Given the description of an element on the screen output the (x, y) to click on. 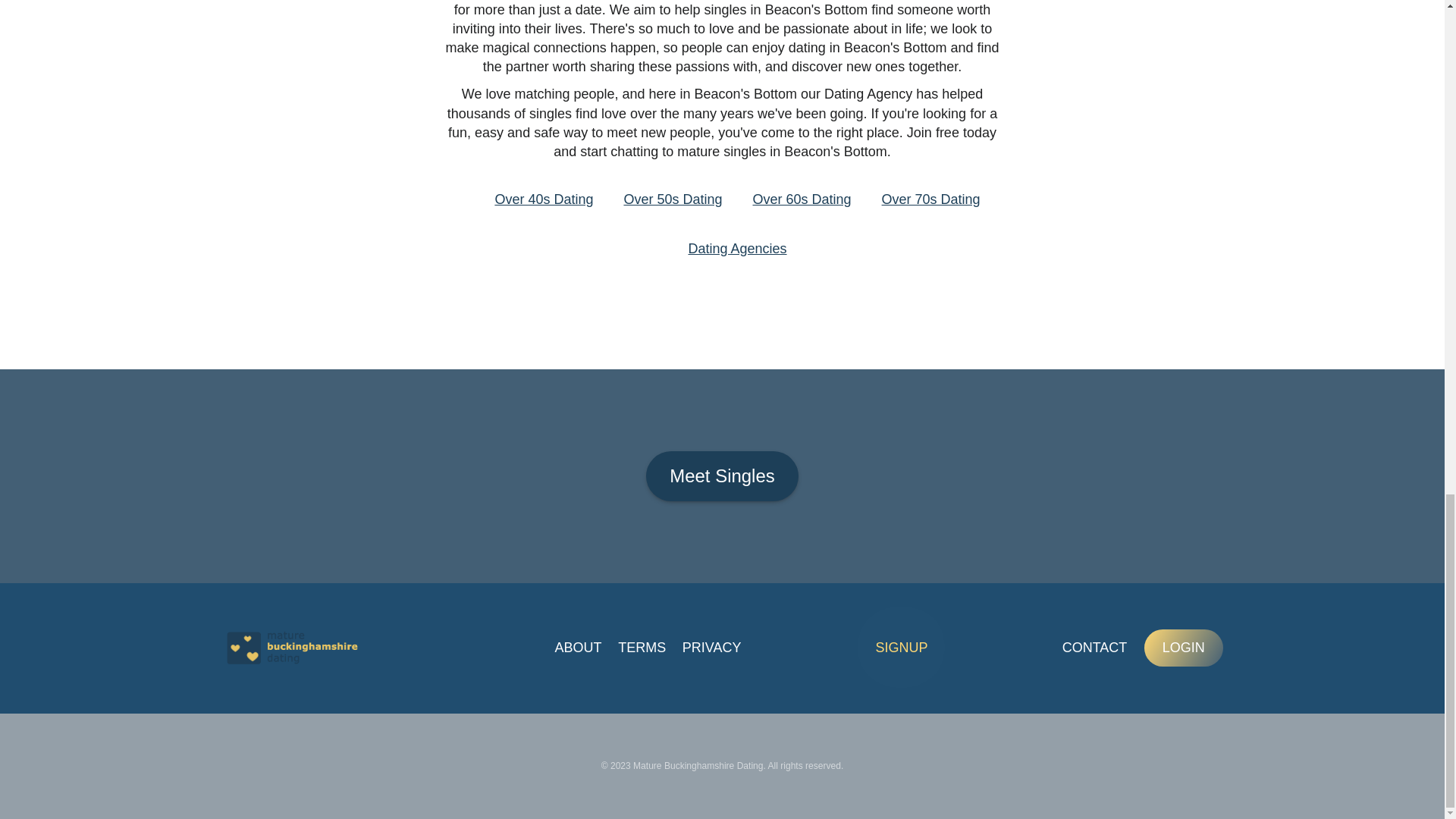
Over 40s Dating Buckinghamshire (543, 199)
SIGNUP (901, 647)
Over 50s Dating Buckinghamshire (672, 199)
Over 60s Dating (801, 199)
PRIVACY (711, 647)
LOGIN (1183, 647)
Over 40s Dating (543, 199)
Signup (901, 647)
TERMS (641, 647)
Over 70s Dating Buckinghamshire (930, 199)
